Given the description of an element on the screen output the (x, y) to click on. 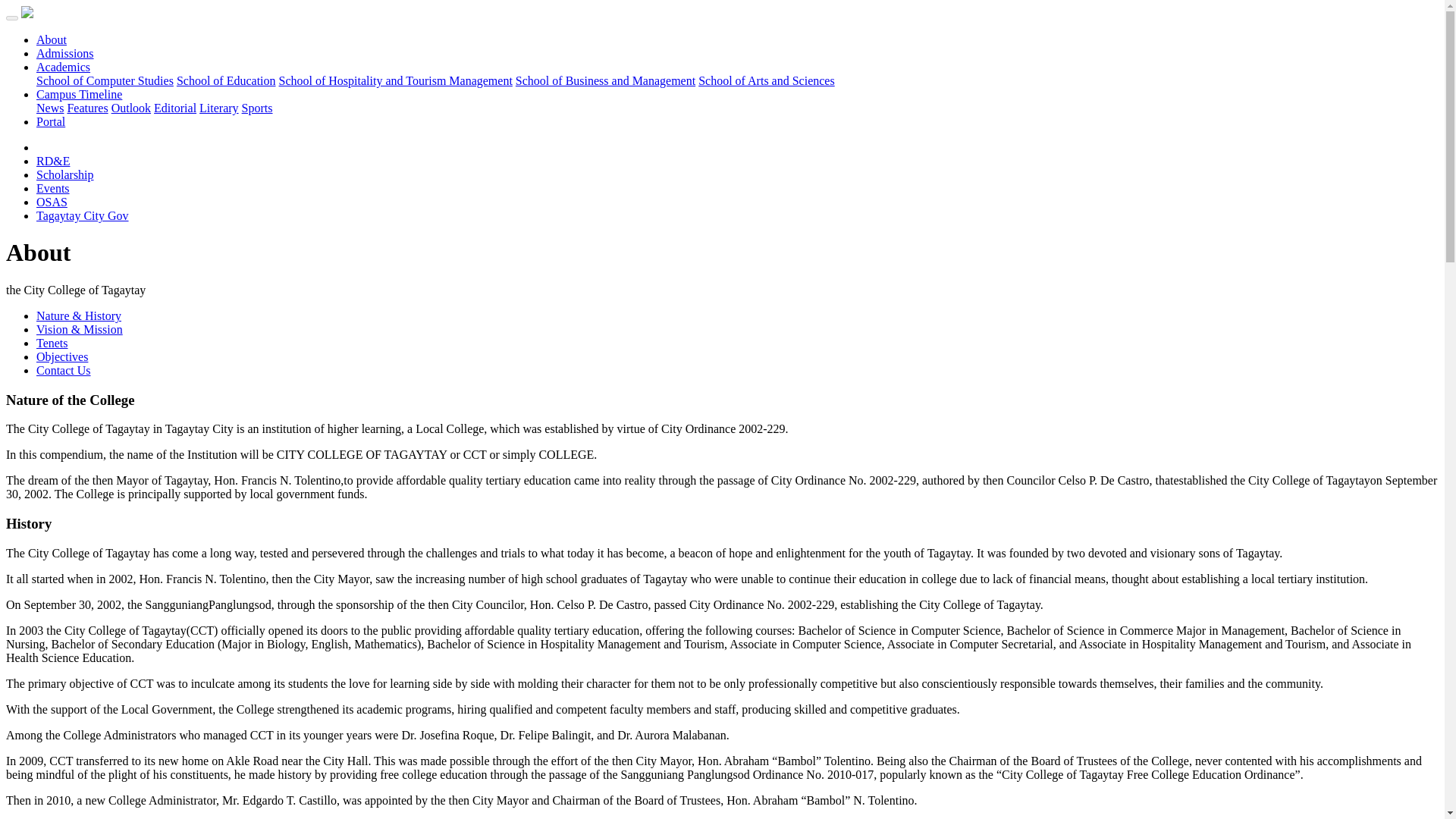
Campus Timeline (79, 93)
Portal (50, 121)
School of Business and Management (605, 80)
Contact Us (63, 369)
School of Computer Studies (104, 80)
Academics (63, 66)
Admissions (65, 52)
News (50, 107)
Outlook (131, 107)
Sports (257, 107)
